Given the description of an element on the screen output the (x, y) to click on. 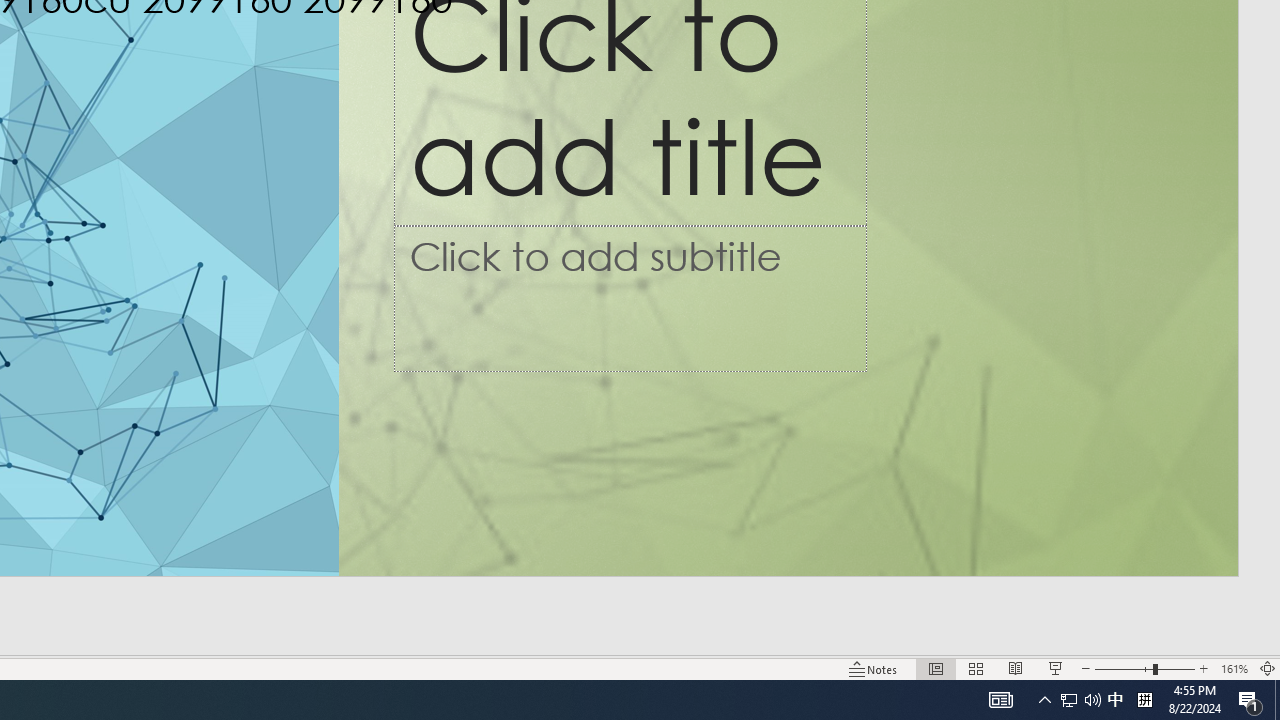
Zoom 161% (1234, 668)
